Given the description of an element on the screen output the (x, y) to click on. 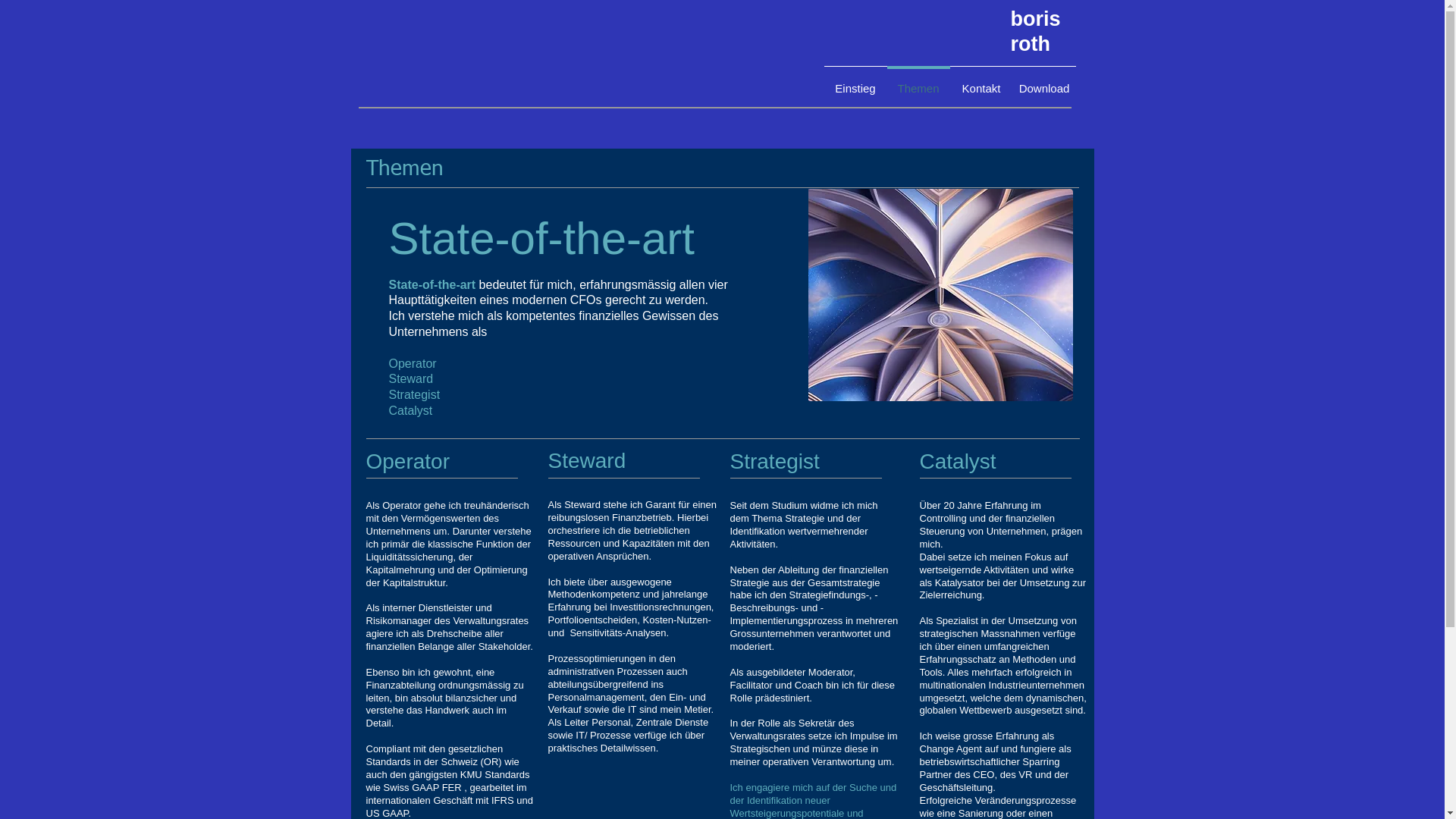
Download Element type: text (1044, 81)
Themen Element type: text (403, 168)
Einstieg Element type: text (854, 81)
Themen Element type: text (918, 81)
Kontakt Element type: text (980, 81)
